Given the description of an element on the screen output the (x, y) to click on. 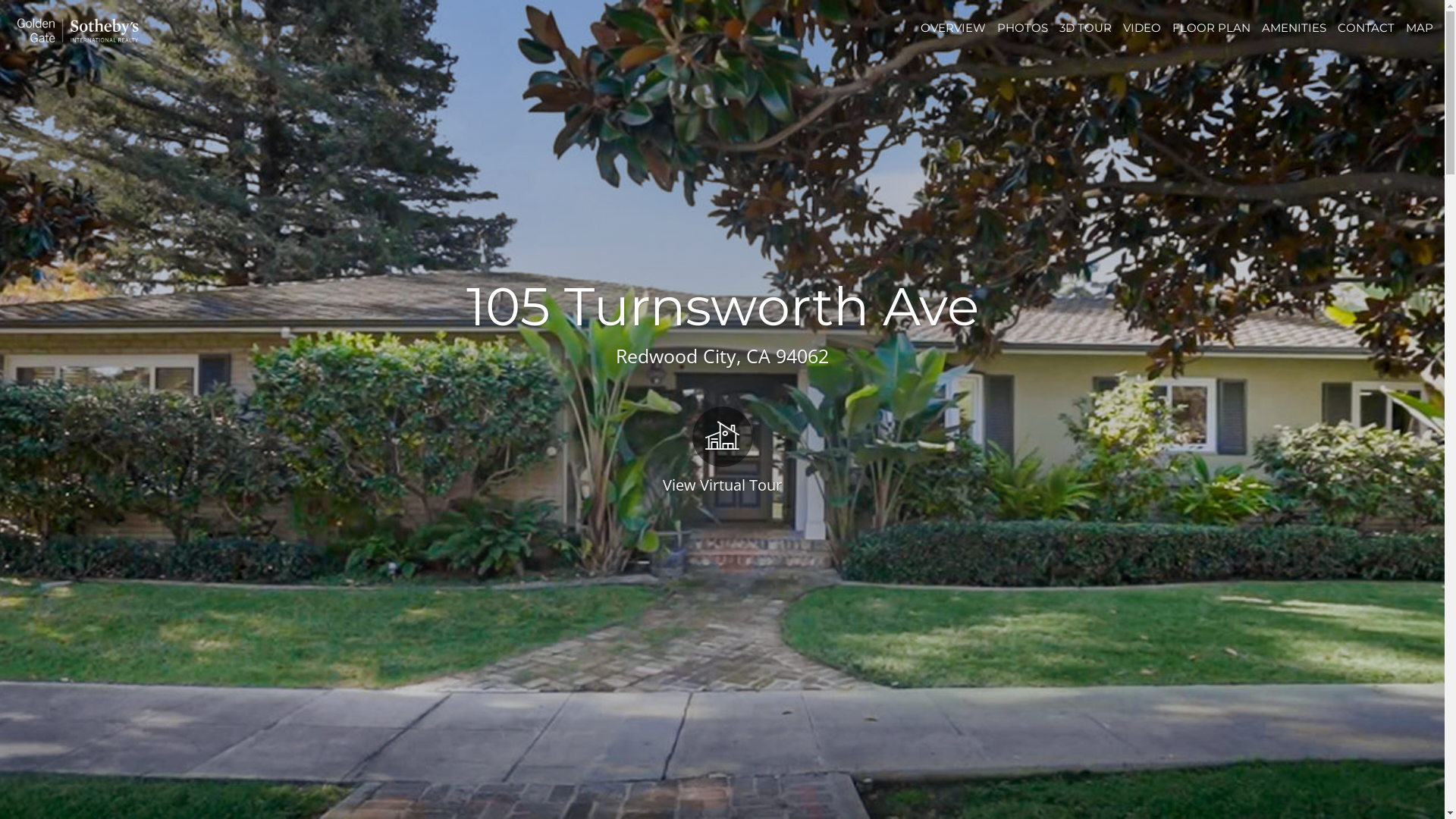
View Virtual Tour Element type: text (722, 448)
OVERVIEW Element type: text (952, 27)
3D TOUR Element type: text (1085, 27)
MAP Element type: text (1419, 27)
CONTACT Element type: text (1365, 27)
VIDEO Element type: text (1142, 27)
PHOTOS Element type: text (1022, 27)
FLOOR PLAN Element type: text (1211, 27)
AMENITIES Element type: text (1293, 27)
